Given the description of an element on the screen output the (x, y) to click on. 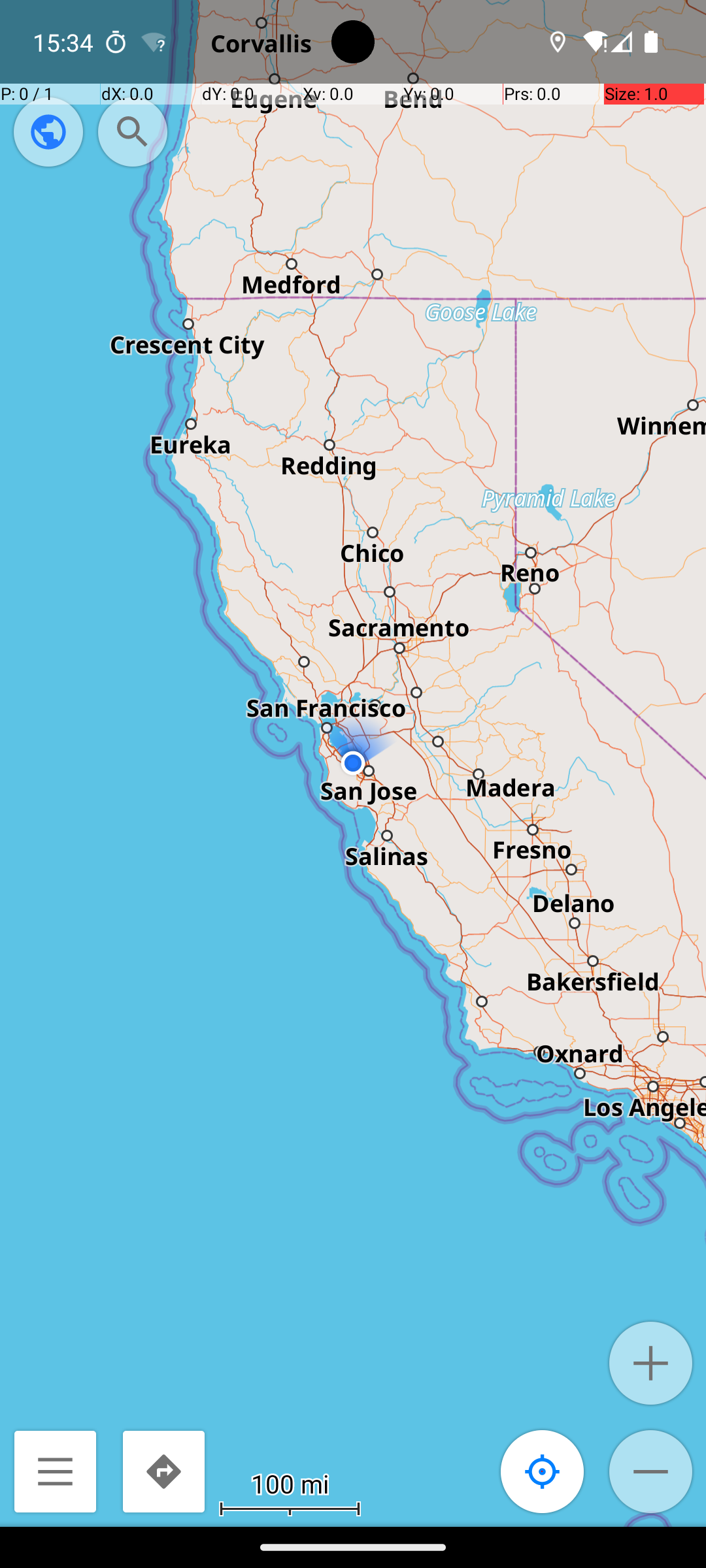
100 mi Element type: android.widget.TextView (289, 1483)
Map linked to location Element type: android.widget.ImageButton (542, 1471)
